Given the description of an element on the screen output the (x, y) to click on. 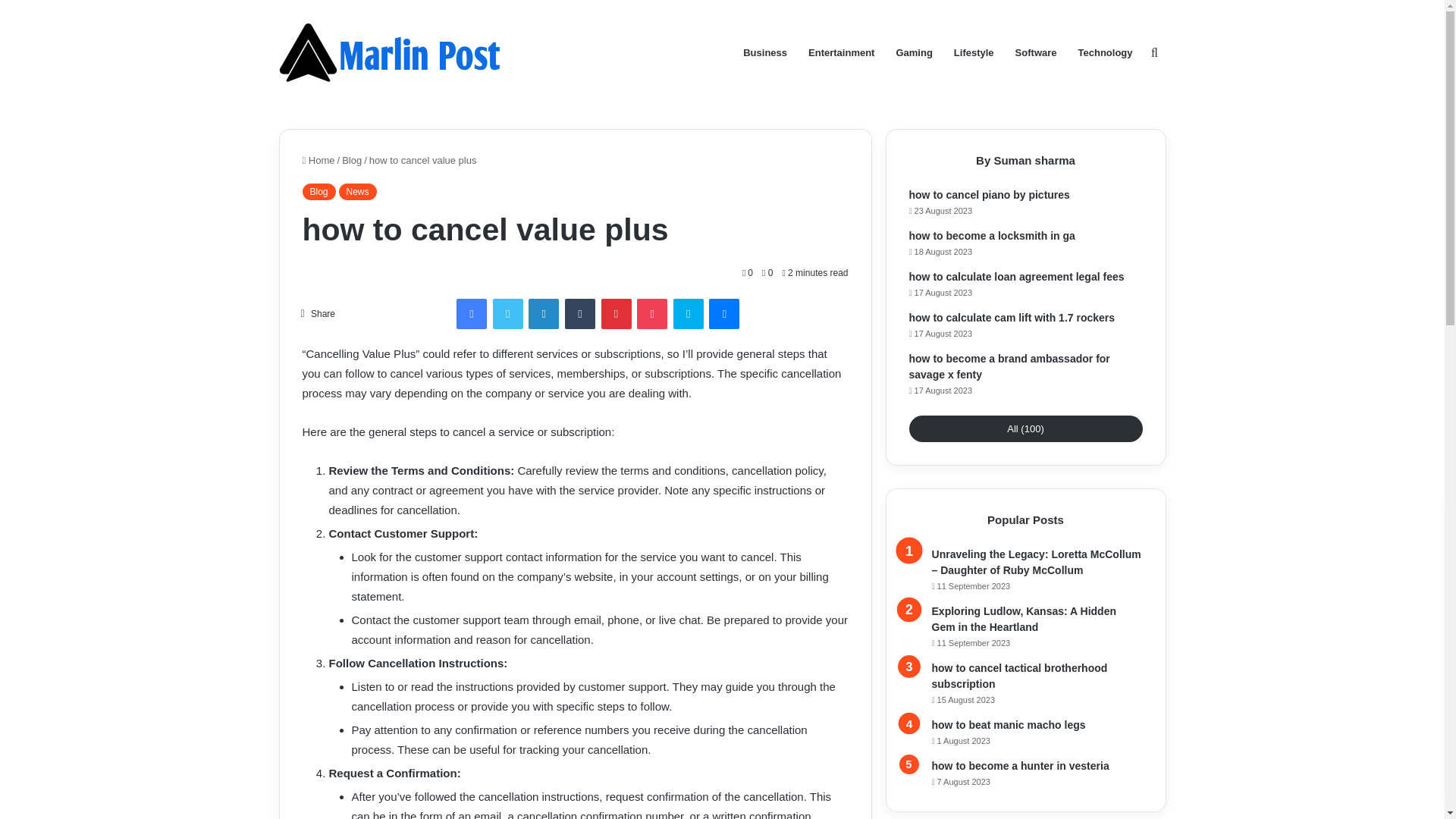
Twitter (507, 313)
Home (317, 160)
Blog (317, 191)
Skype (687, 313)
Facebook (471, 313)
LinkedIn (543, 313)
Pinterest (616, 313)
Tumblr (579, 313)
Pinterest (616, 313)
Blog (351, 160)
